Given the description of an element on the screen output the (x, y) to click on. 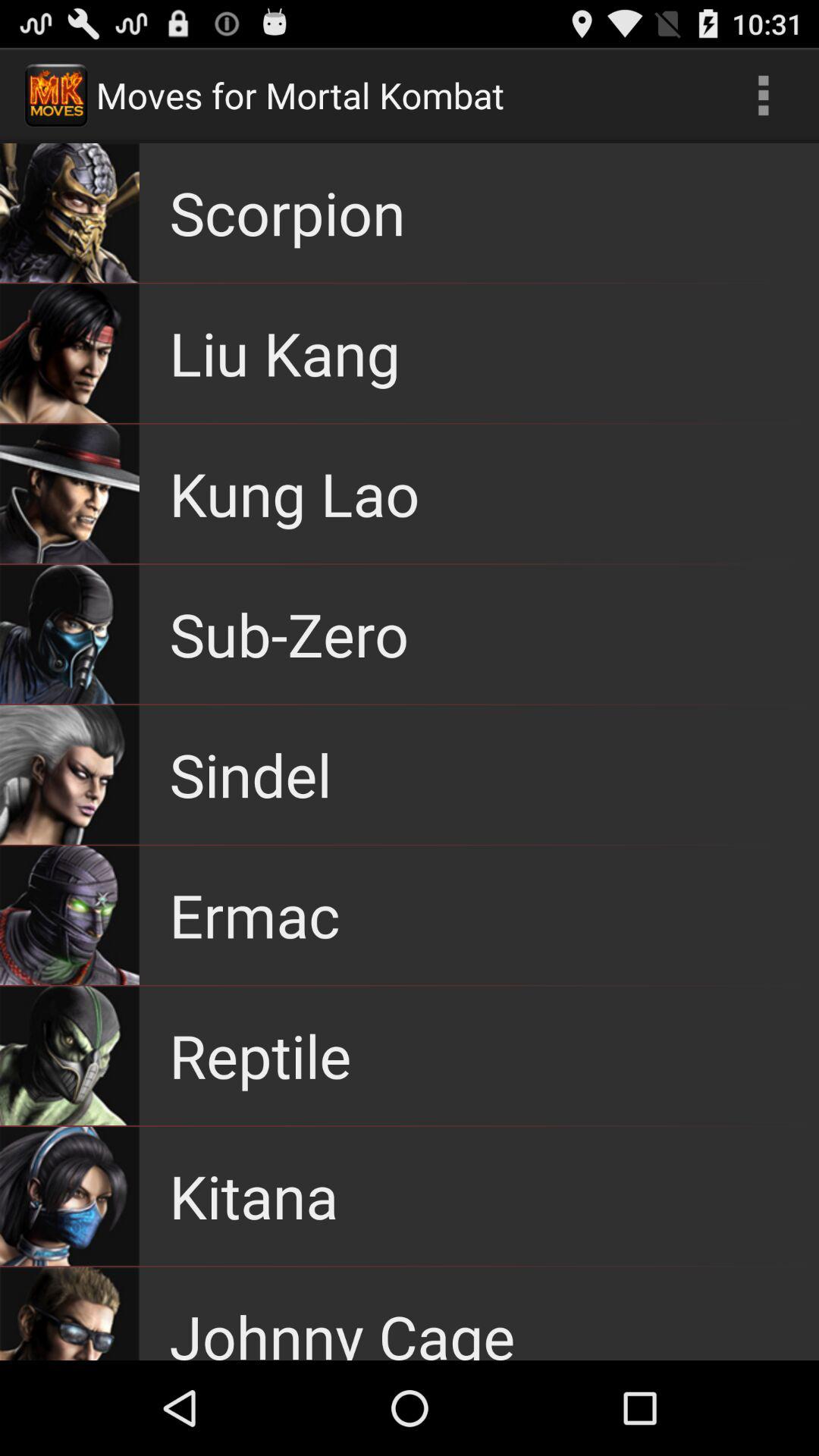
select icon above kitana app (260, 1055)
